Given the description of an element on the screen output the (x, y) to click on. 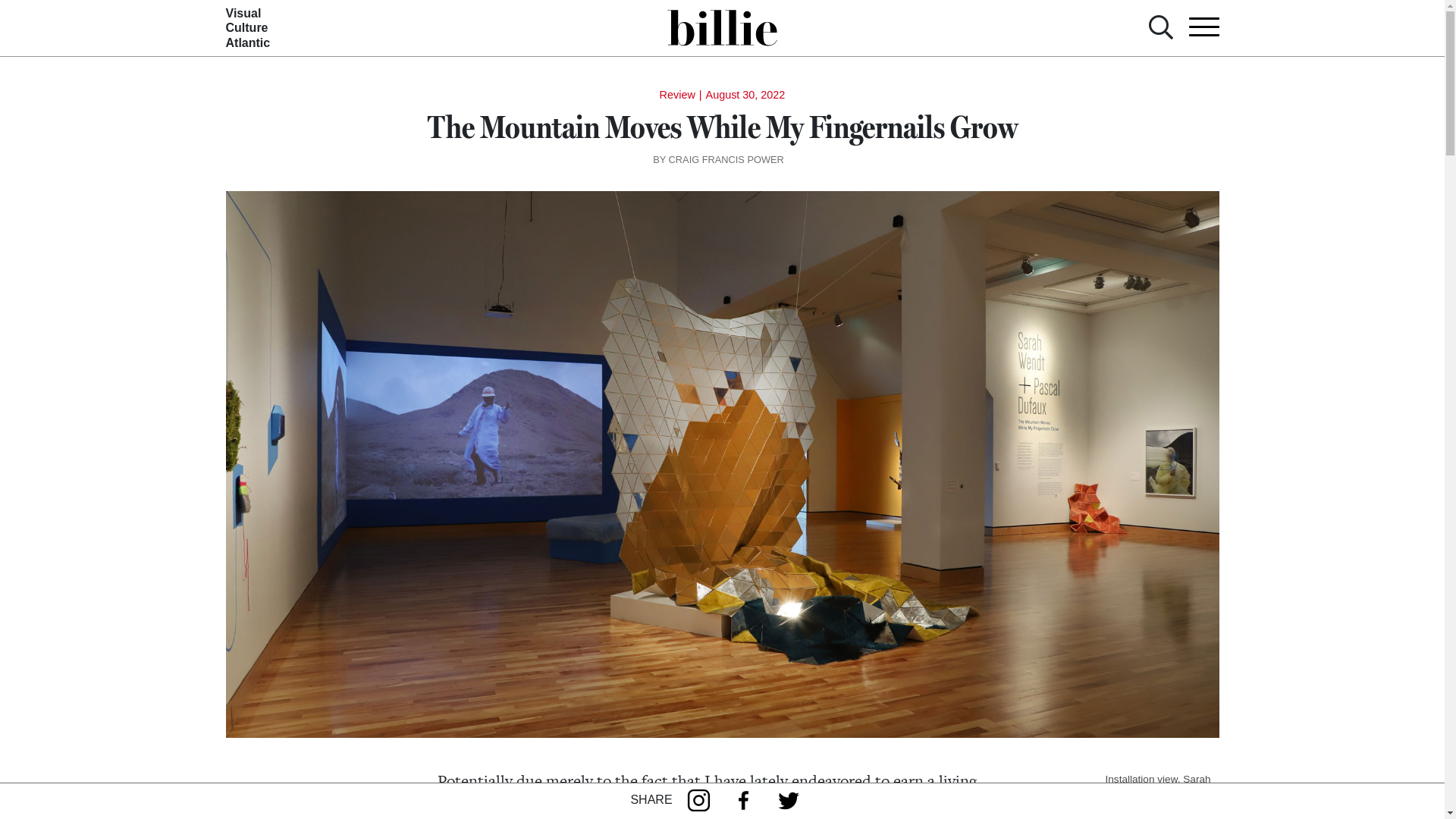
Twitter Element type: hover (791, 801)
Instagram Element type: hover (702, 801)
Review Element type: text (677, 94)
Facebook Element type: hover (747, 801)
